Given the description of an element on the screen output the (x, y) to click on. 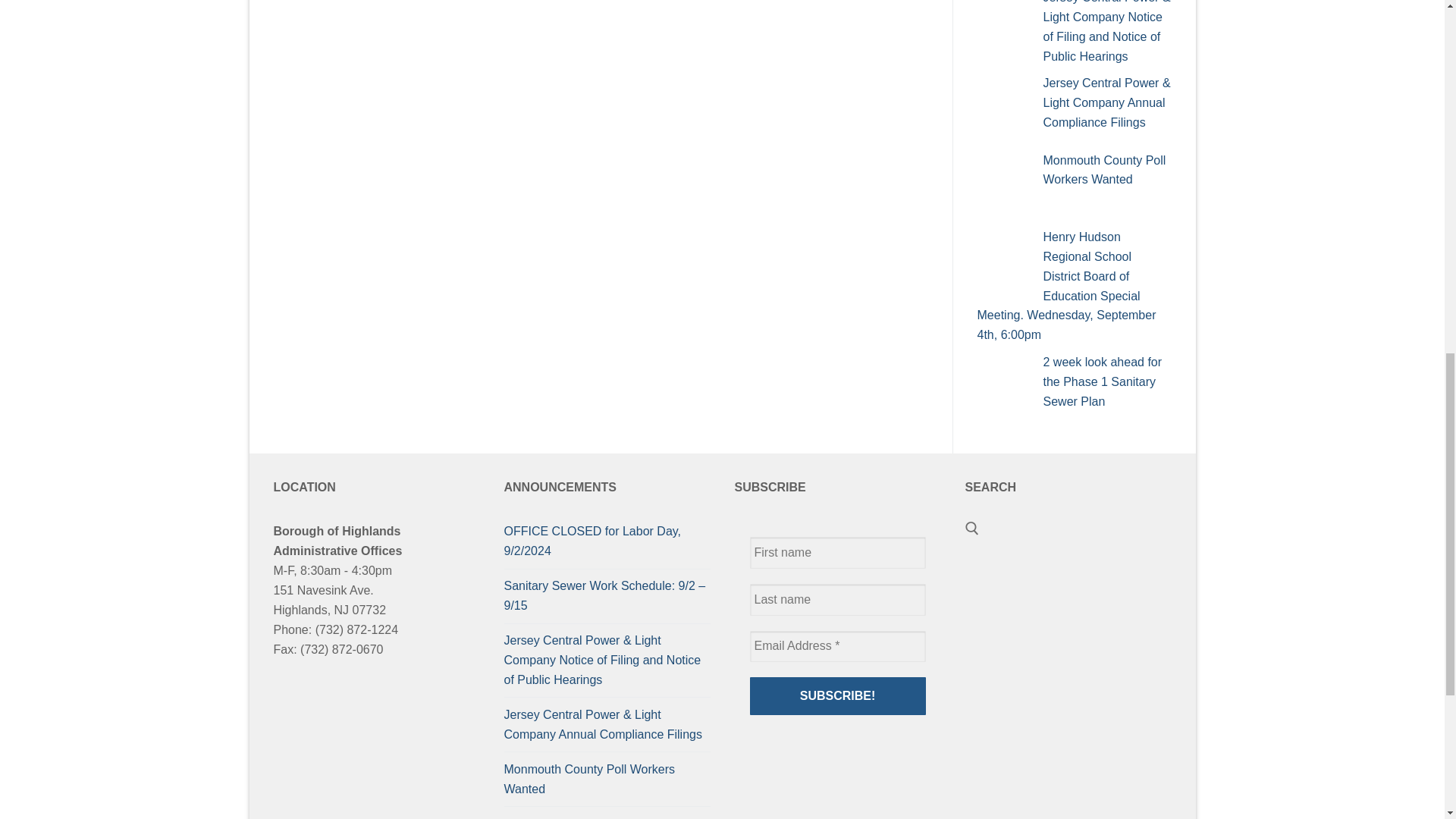
Subscribe! (836, 695)
First name (836, 552)
Email Address (836, 646)
Last name (836, 599)
